Given the description of an element on the screen output the (x, y) to click on. 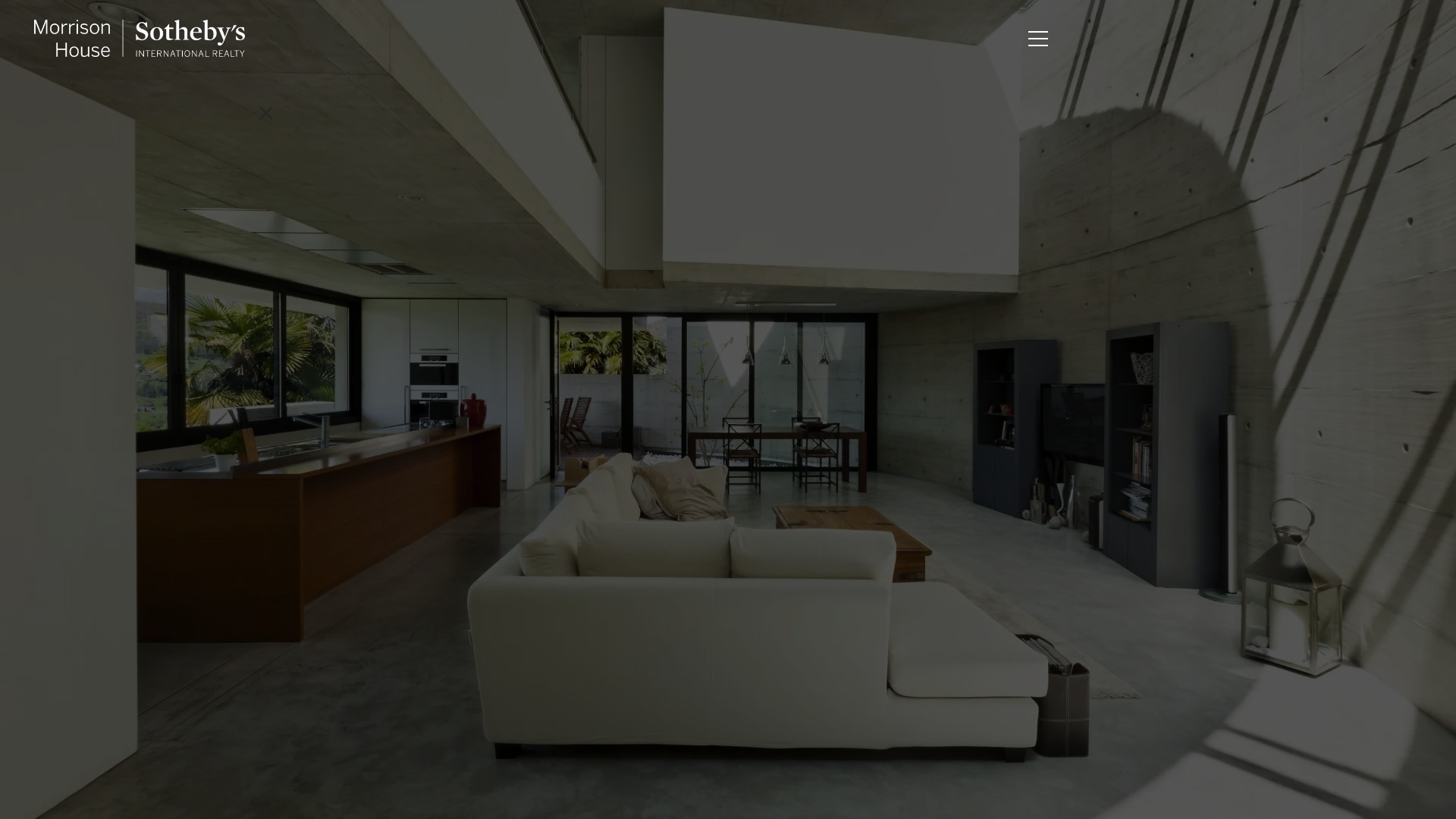
PROPERTIES (151, 332)
OUR BROKERS (150, 246)
SOTHEBY'S AUCTION HOUSE (151, 547)
HOME SEARCH (764, 42)
253.292.9290 (959, 42)
NEIGHBORHOODS (151, 462)
MY SEARCH PORTAL (151, 720)
CONTACT US (865, 42)
RESOURCES (151, 591)
CONTACT US (151, 678)
HOME (151, 203)
ABOUT THE BRAND (150, 504)
HOME VALUATION (151, 419)
HOME SEARCH (150, 375)
PROPERTIES (664, 42)
